Given the description of an element on the screen output the (x, y) to click on. 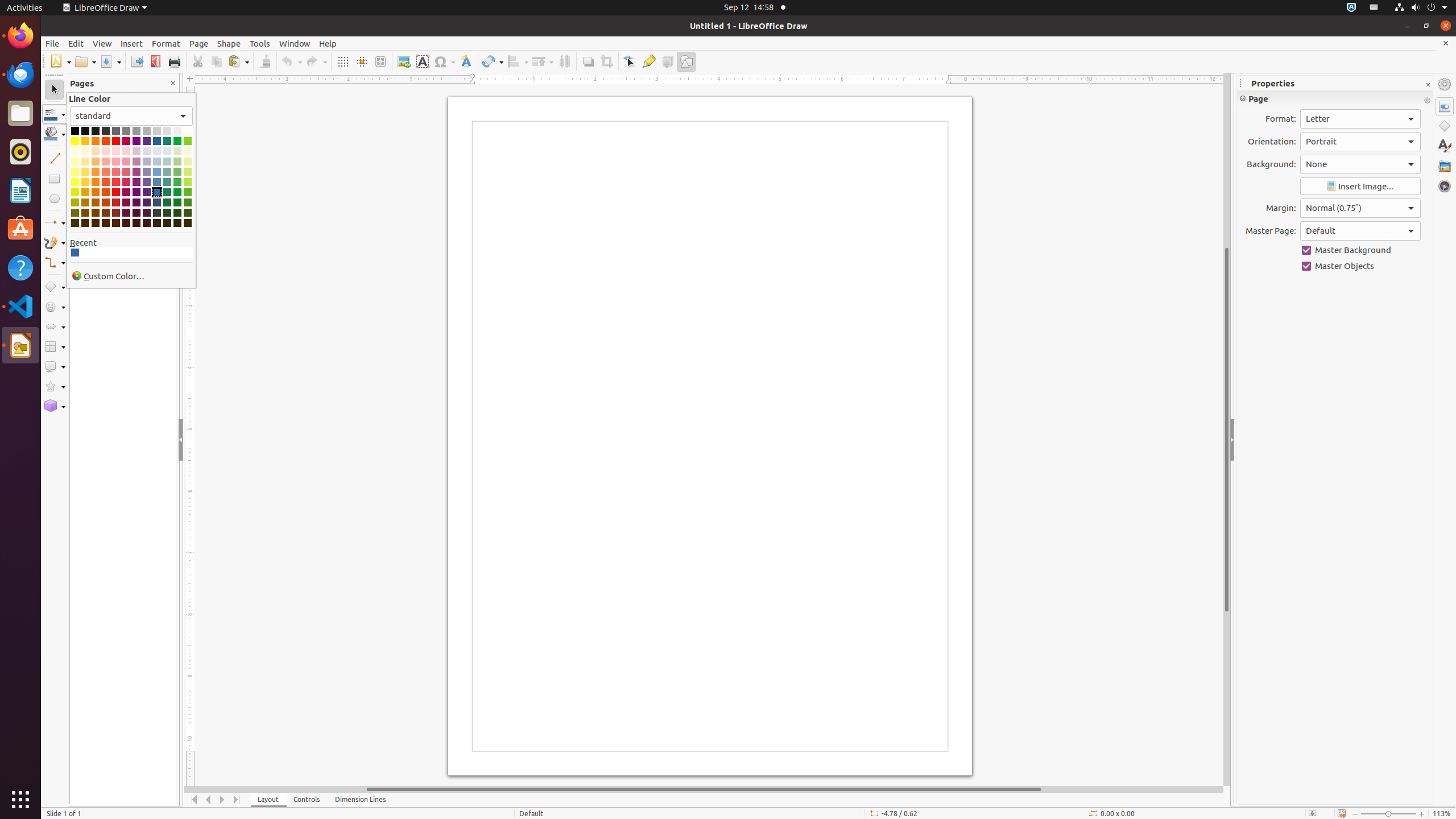
Gray Element type: list-item (126, 130)
Dark Teal 4 Element type: list-item (167, 222)
Light Purple 4 Element type: list-item (136, 151)
Close Sidebar Deck Element type: push-button (1427, 84)
Light Lime 2 Element type: list-item (187, 171)
